Given the description of an element on the screen output the (x, y) to click on. 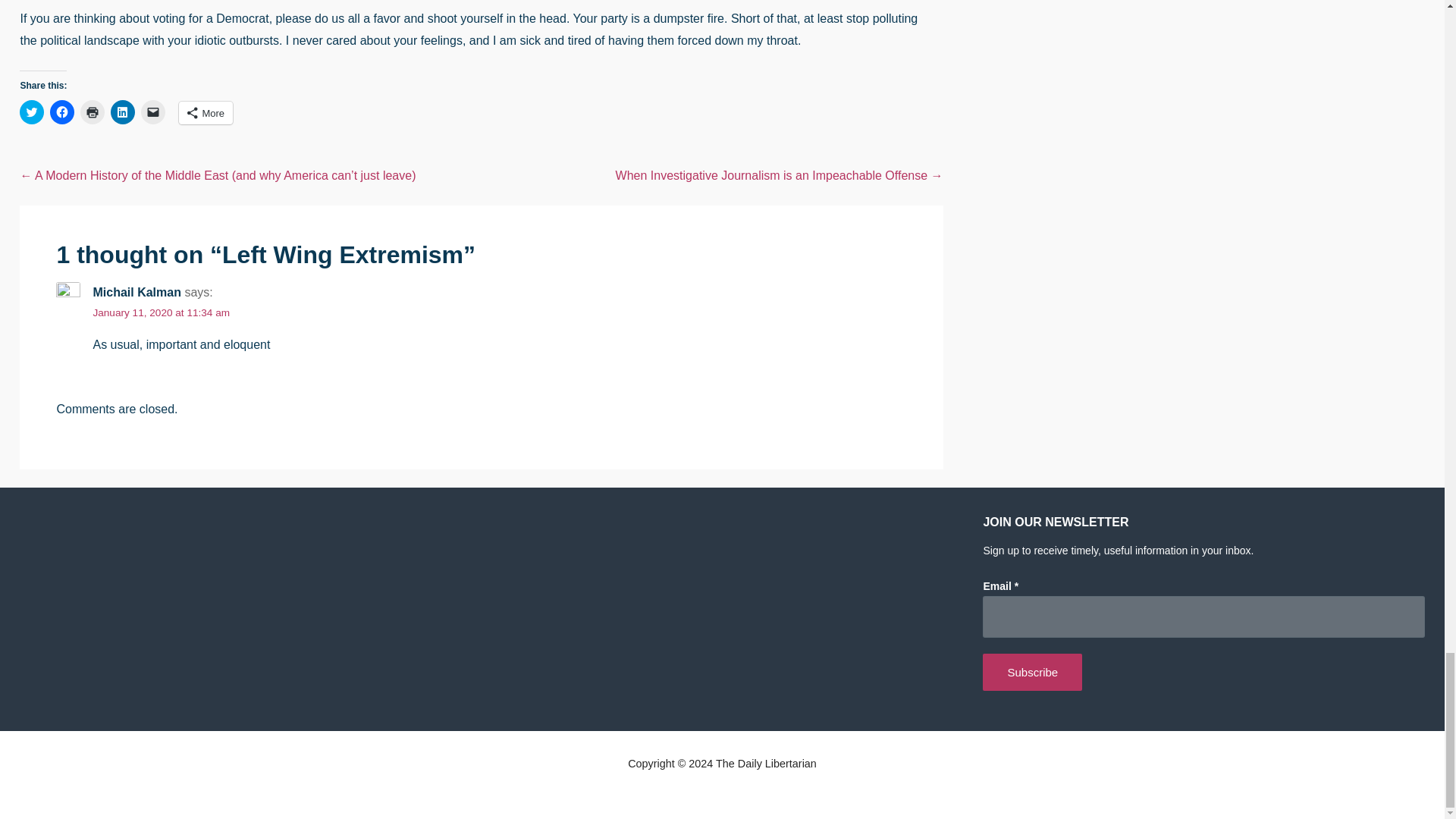
Click to share on LinkedIn (122, 111)
Click to email a link to a friend (153, 111)
Click to print (92, 111)
Click to share on Facebook (61, 111)
Subscribe (1031, 672)
January 11, 2020 at 11:34 am (161, 312)
More (205, 112)
Click to share on Twitter (31, 111)
